Given the description of an element on the screen output the (x, y) to click on. 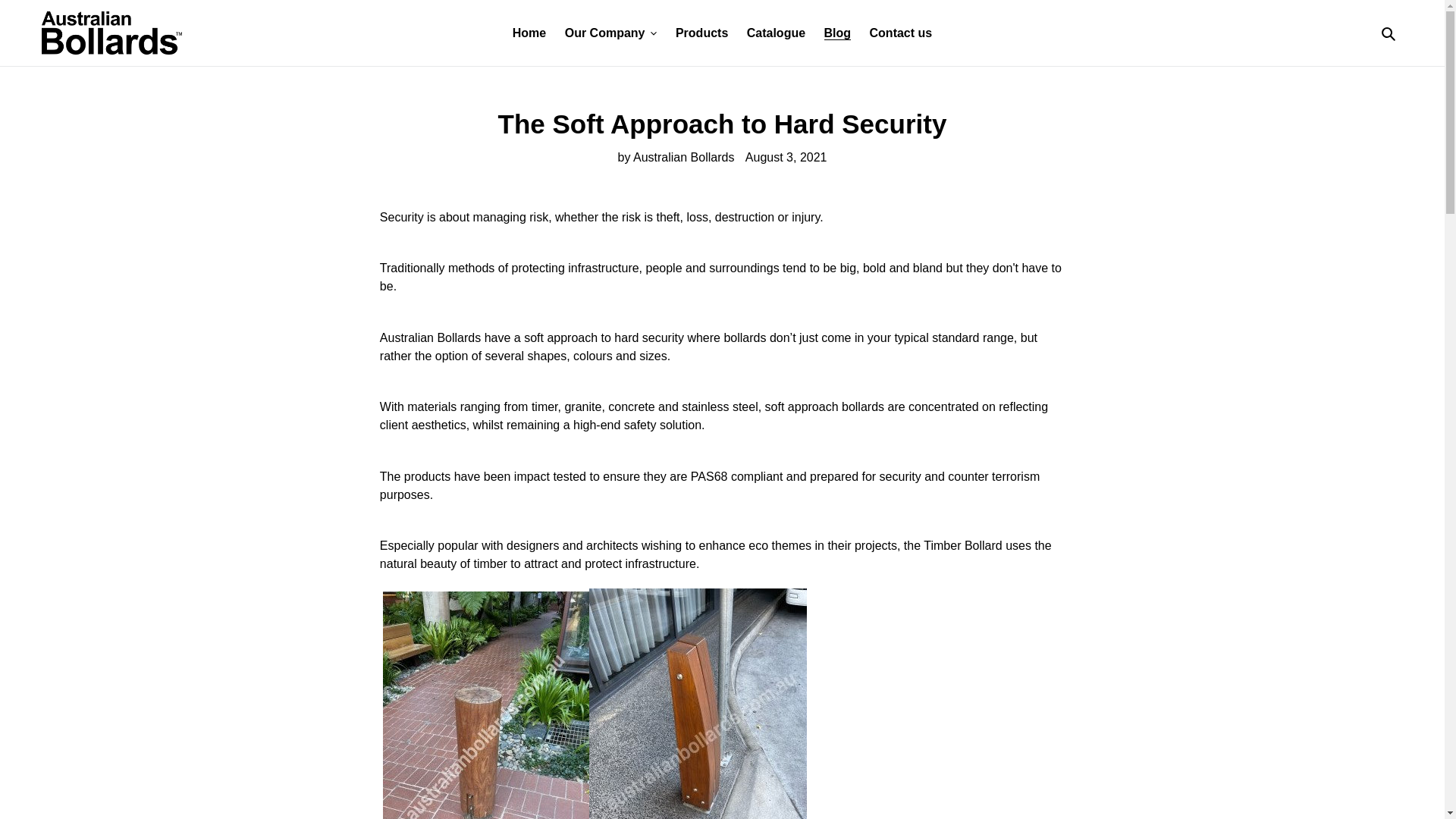
Contact us (900, 32)
Products (701, 32)
Blog (837, 32)
Search (1389, 32)
Home (529, 32)
Catalogue (775, 32)
Our Company (611, 32)
